Given the description of an element on the screen output the (x, y) to click on. 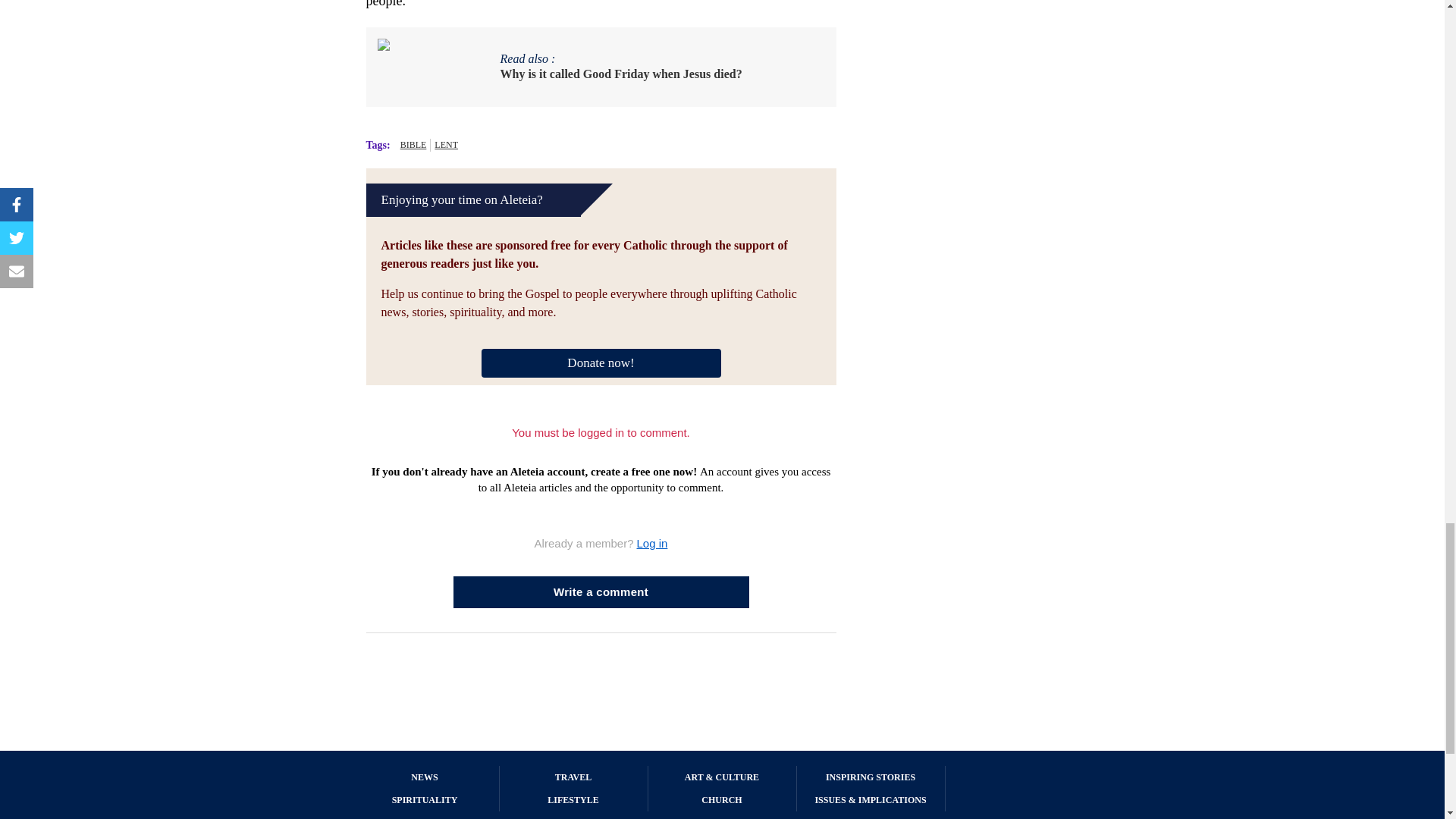
BIBLE (413, 144)
Why is it called Good Friday when Jesus died? (621, 73)
